Given the description of an element on the screen output the (x, y) to click on. 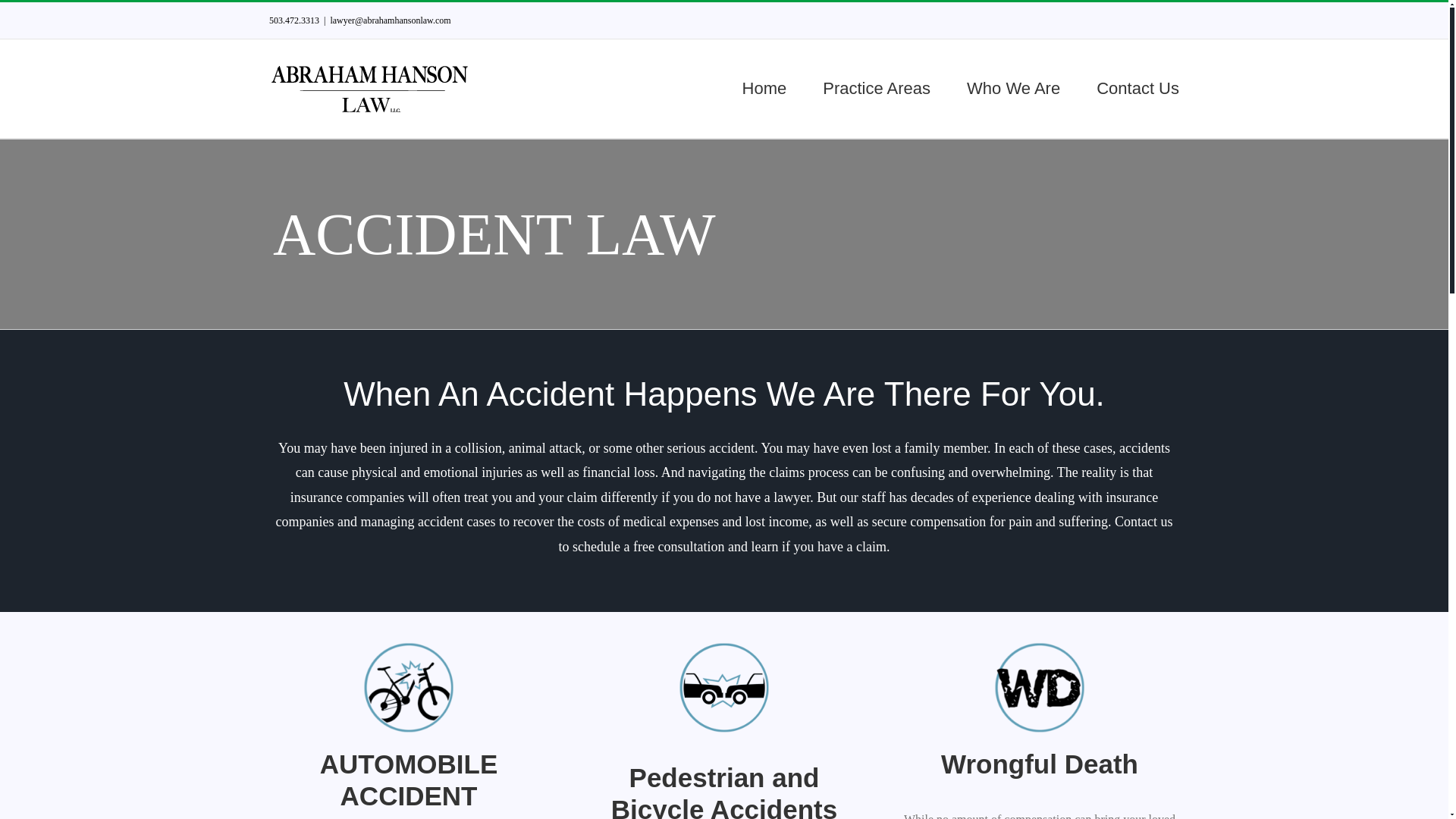
Who We Are (1012, 88)
Practice Areas (876, 88)
Contact Us (1137, 88)
Home (764, 88)
